Given the description of an element on the screen output the (x, y) to click on. 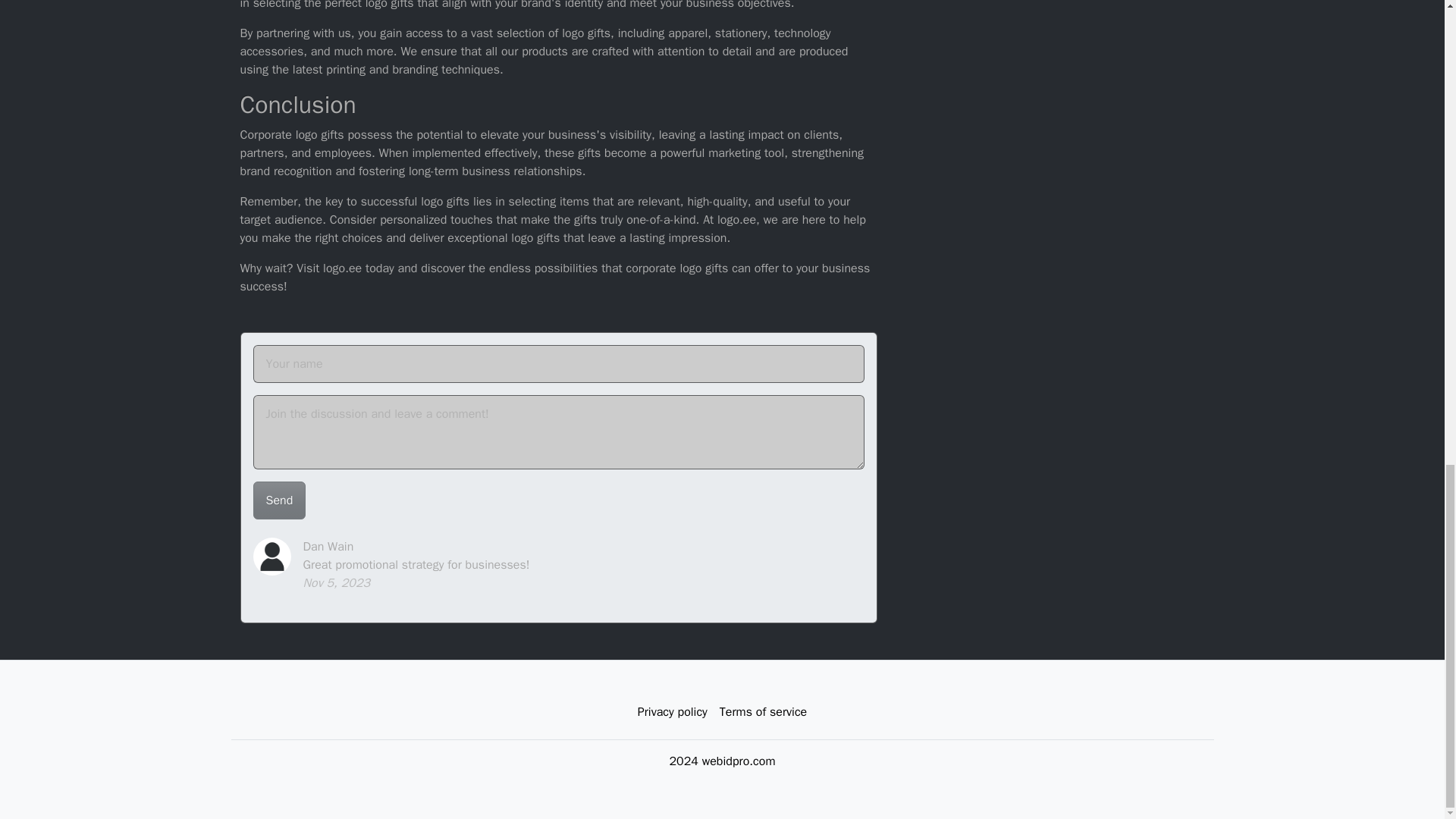
Send (279, 500)
Send (279, 500)
Terms of service (762, 711)
Privacy policy (672, 711)
